Given the description of an element on the screen output the (x, y) to click on. 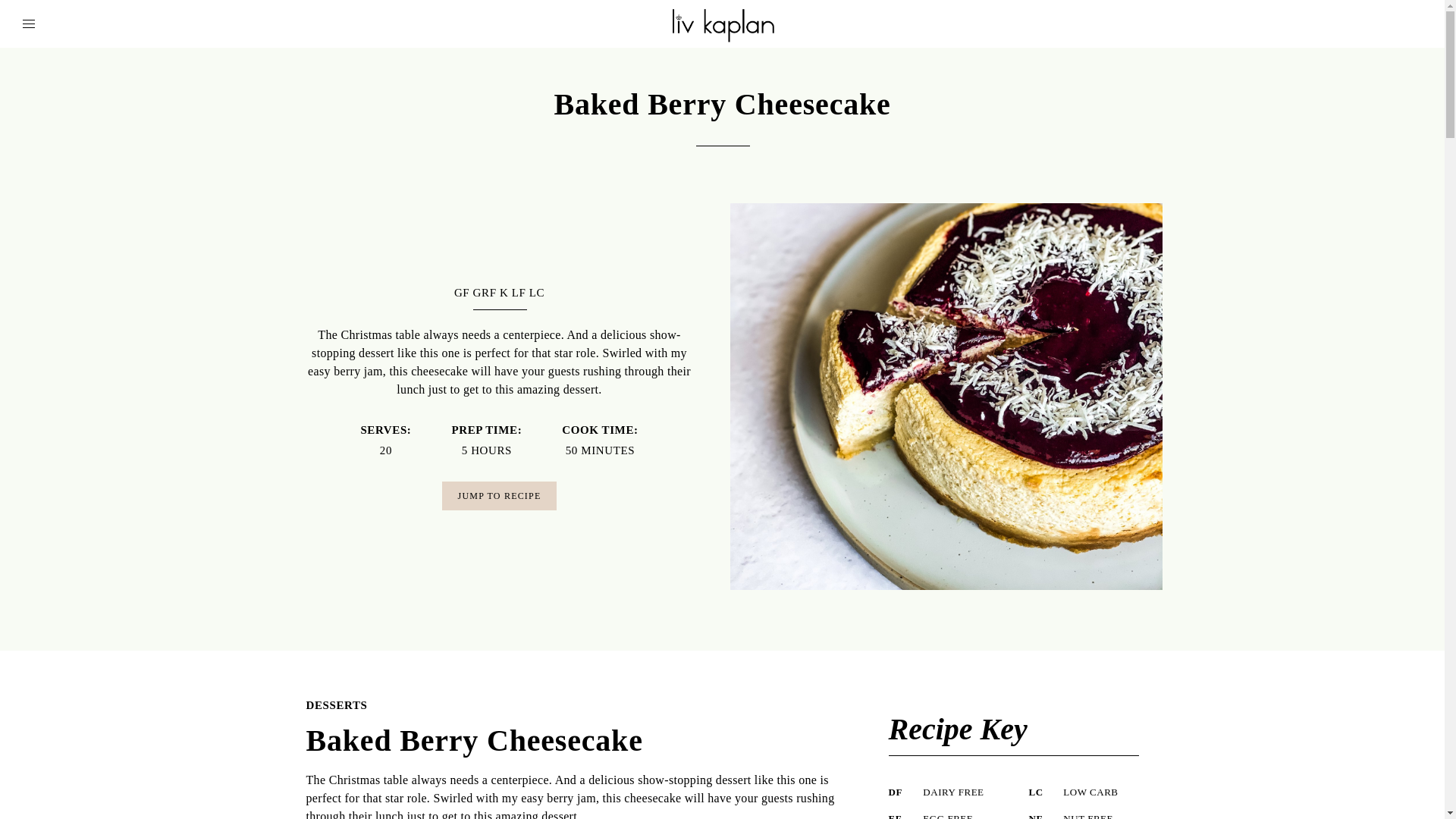
JUMP TO RECIPE (499, 494)
GRF (484, 292)
DESSERTS (336, 705)
LC (536, 292)
GF (461, 292)
LF (518, 292)
